Given the description of an element on the screen output the (x, y) to click on. 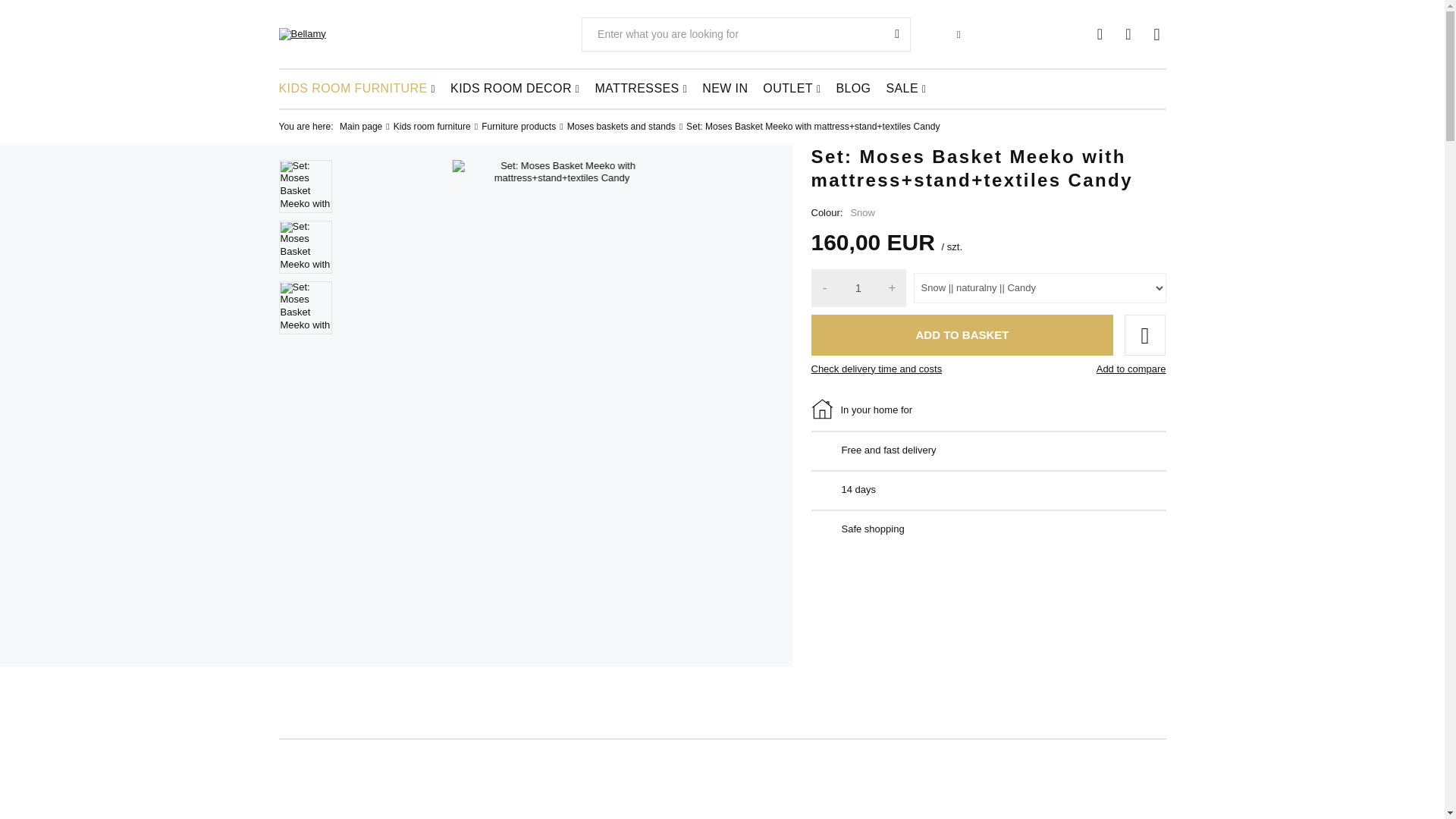
Blog (852, 88)
Kids room decor (514, 88)
Sale (905, 88)
Kids room furniture (357, 88)
Outlet (791, 88)
Mattresses (640, 88)
New in (724, 88)
ue terms (1029, 33)
1 (858, 288)
KIDS ROOM FURNITURE (357, 88)
